Given the description of an element on the screen output the (x, y) to click on. 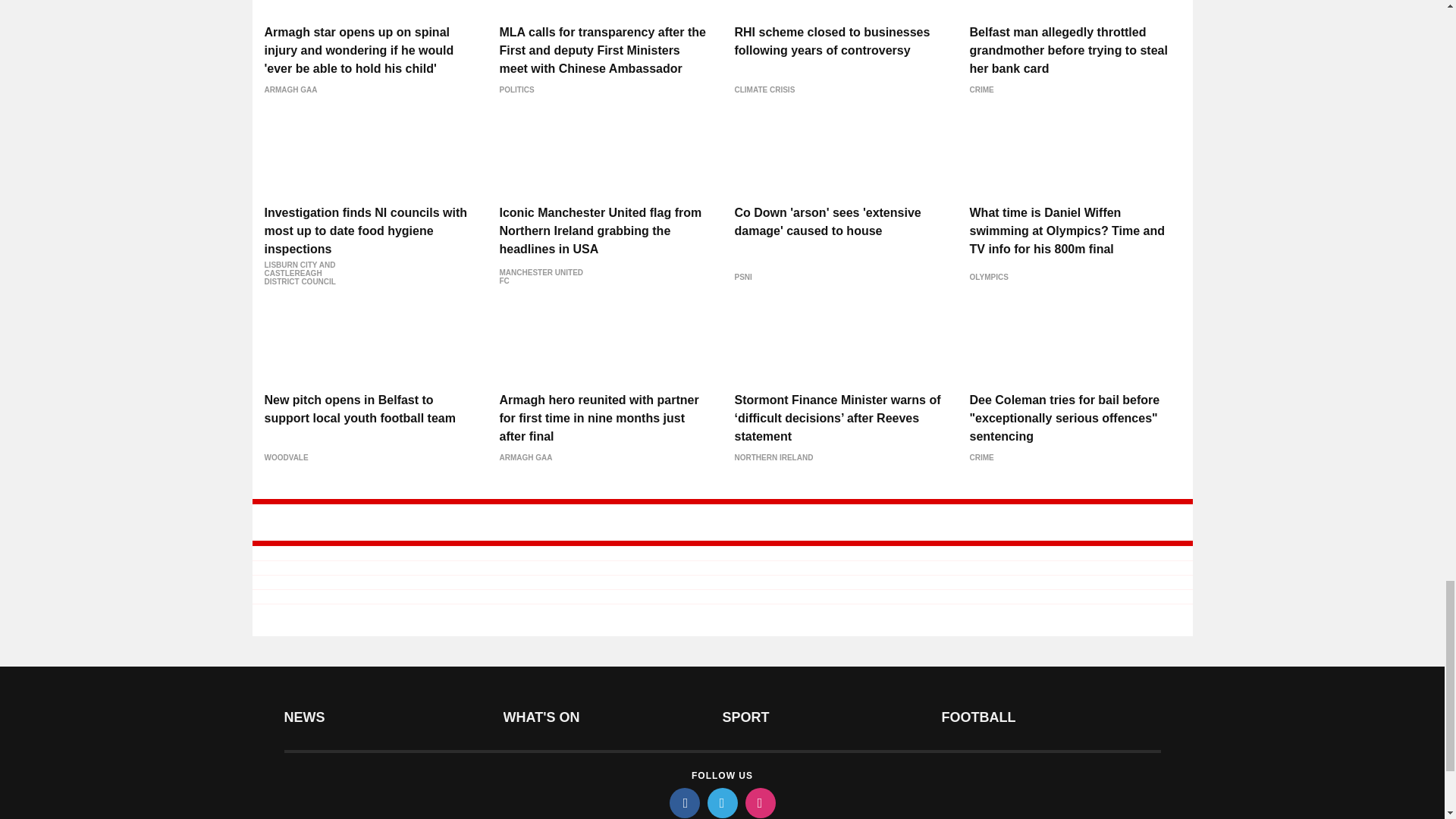
facebook (683, 802)
instagram (759, 802)
twitter (721, 802)
